Given the description of an element on the screen output the (x, y) to click on. 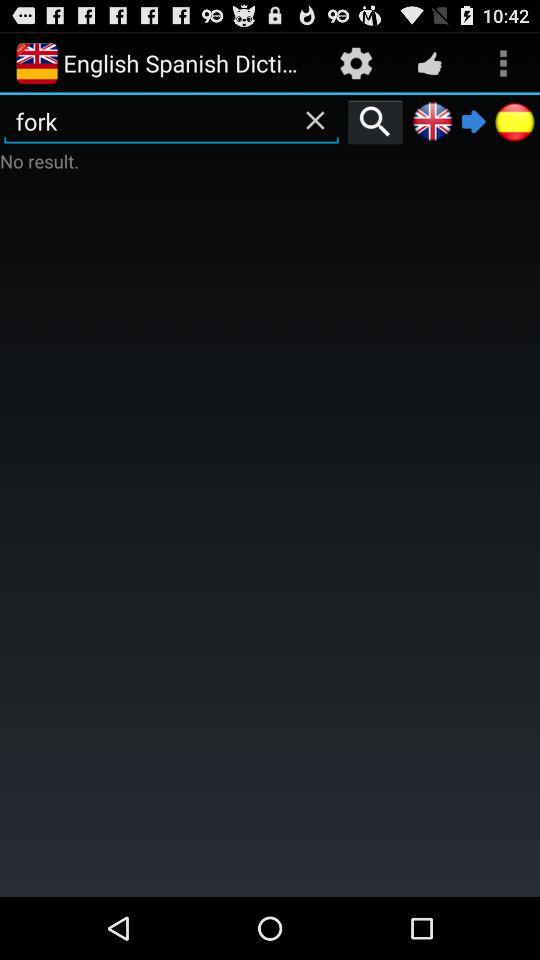
open item to the right of the english spanish dictionary icon (356, 62)
